Given the description of an element on the screen output the (x, y) to click on. 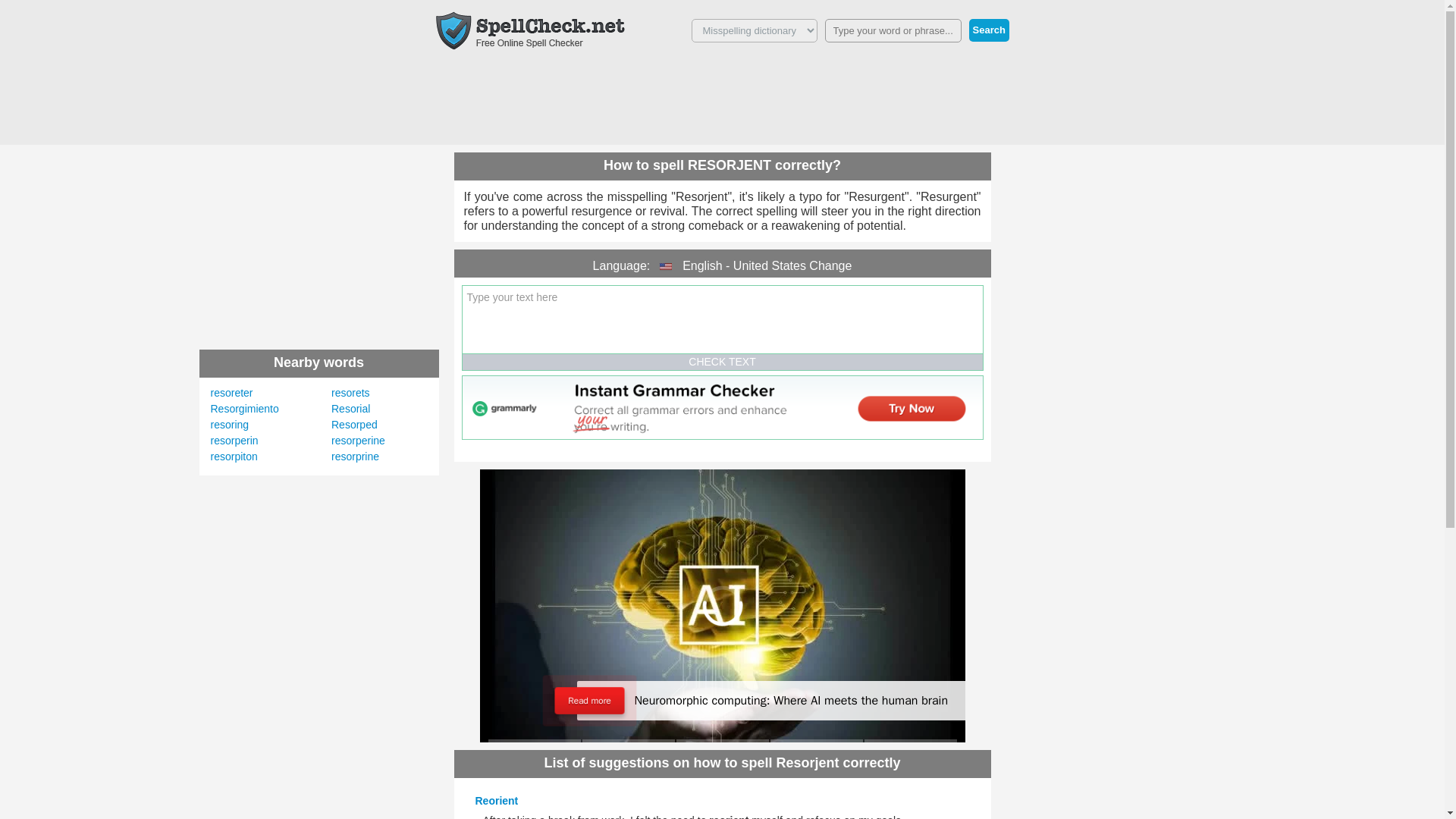
resoreter (232, 392)
resorperine (358, 440)
Resorped (354, 424)
resorets (350, 392)
resoreter (232, 392)
Change (830, 265)
resorpiton (234, 456)
resoring (229, 424)
Resorial (350, 408)
Resorial (350, 408)
resorets (350, 392)
resorperin (235, 440)
Spellcheck.net (529, 30)
resorprine (354, 456)
Resorgimiento (245, 408)
